Given the description of an element on the screen output the (x, y) to click on. 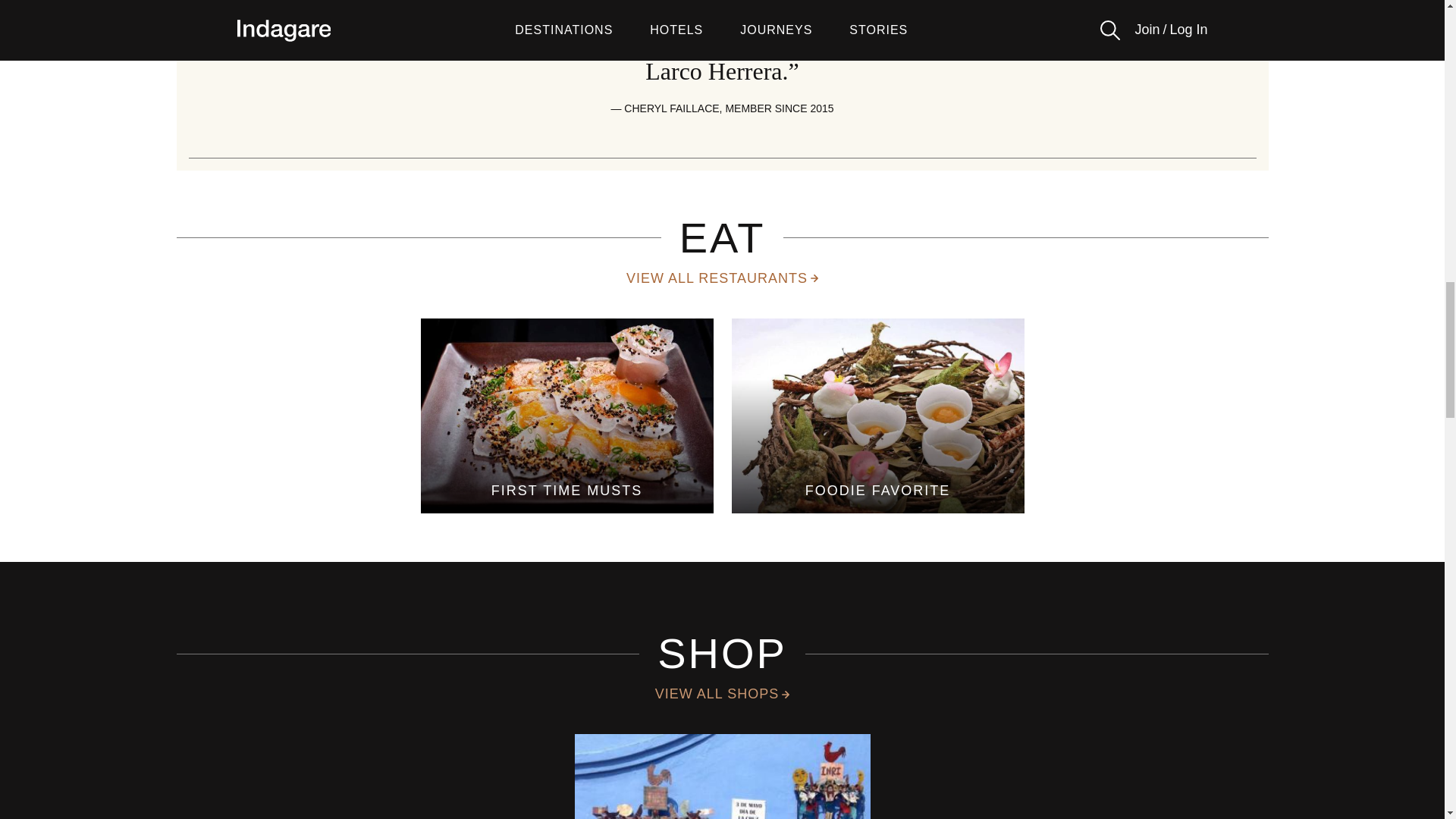
LOCAL TREASURES (722, 776)
VIEW ALL RESTAURANTS (722, 278)
VIEW ALL SHOPS (722, 693)
FIRST TIME MUSTS (566, 415)
FOODIE FAVORITE (876, 415)
